Given the description of an element on the screen output the (x, y) to click on. 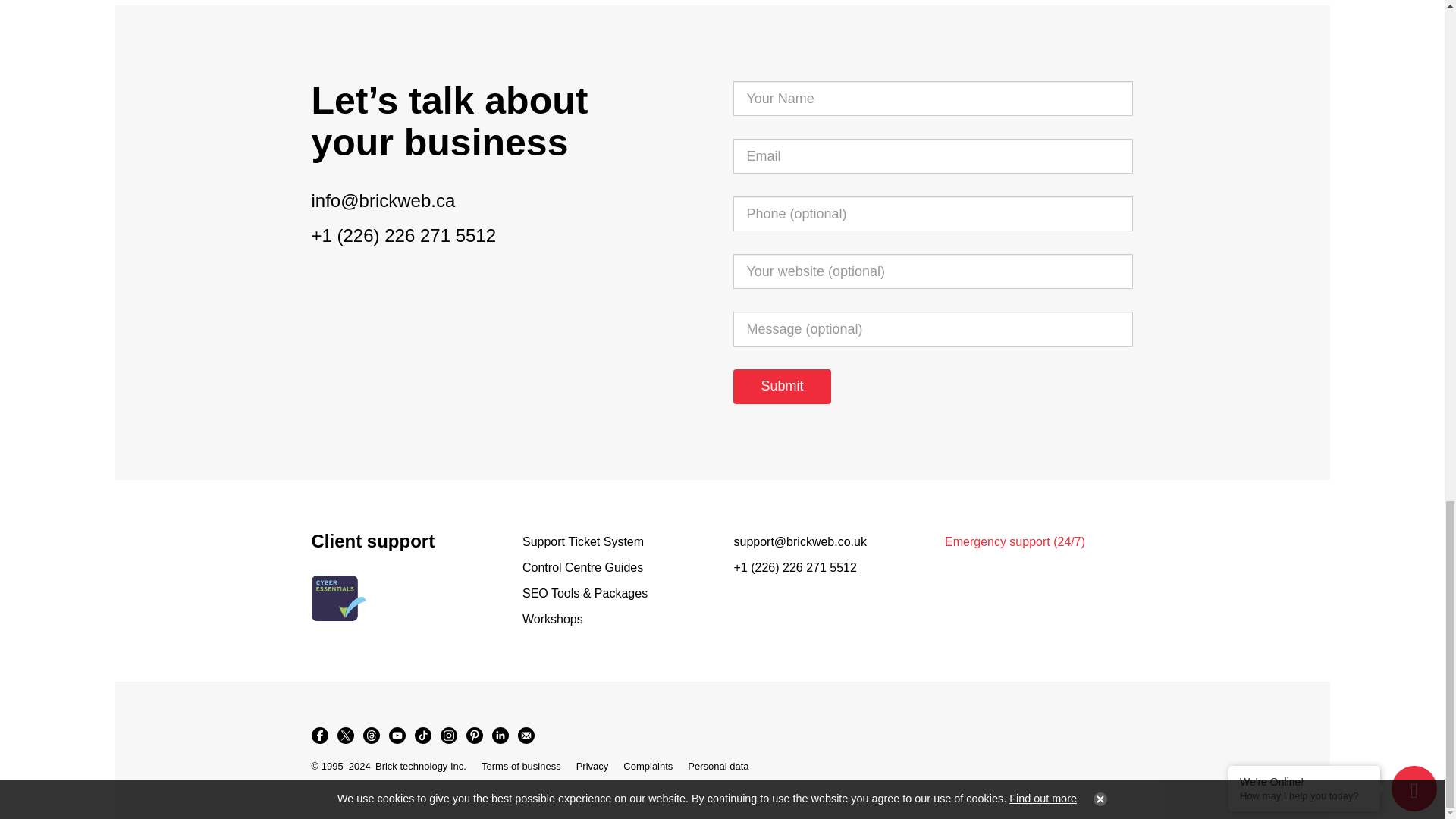
Submit (781, 386)
LinkedIn (499, 735)
Threads (371, 735)
Facebook (318, 735)
TikTok (422, 735)
Pinterest (473, 735)
Instagram (448, 735)
Newsletter (525, 735)
YouTube (396, 735)
Get a copy of your personal data or Erase my personal data (717, 766)
X (344, 735)
